Given the description of an element on the screen output the (x, y) to click on. 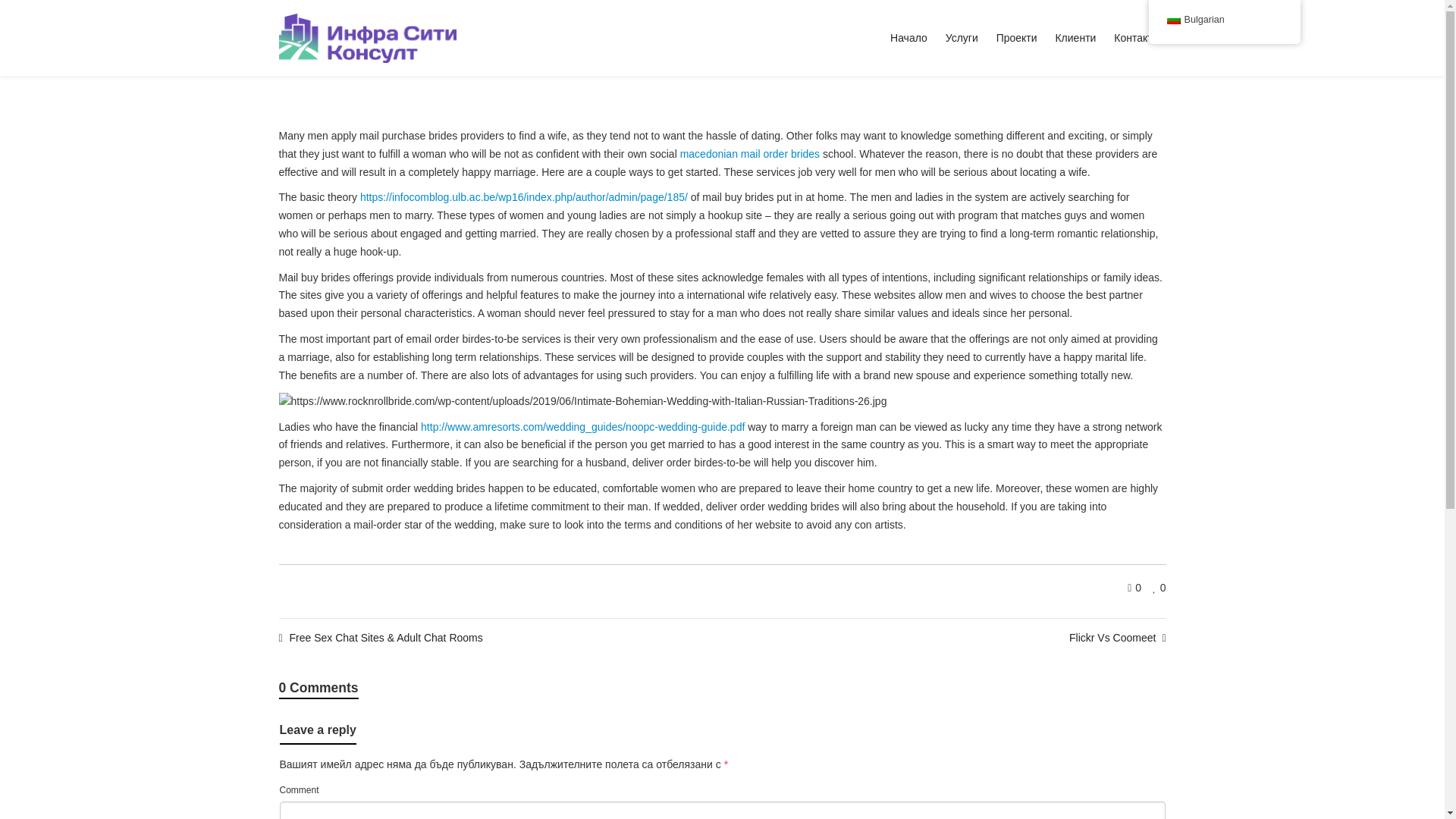
Bulgarian (1224, 19)
Bulgarian (1172, 19)
Flickr Vs Coomeet (1117, 637)
macedonian mail order brides (749, 153)
